Given the description of an element on the screen output the (x, y) to click on. 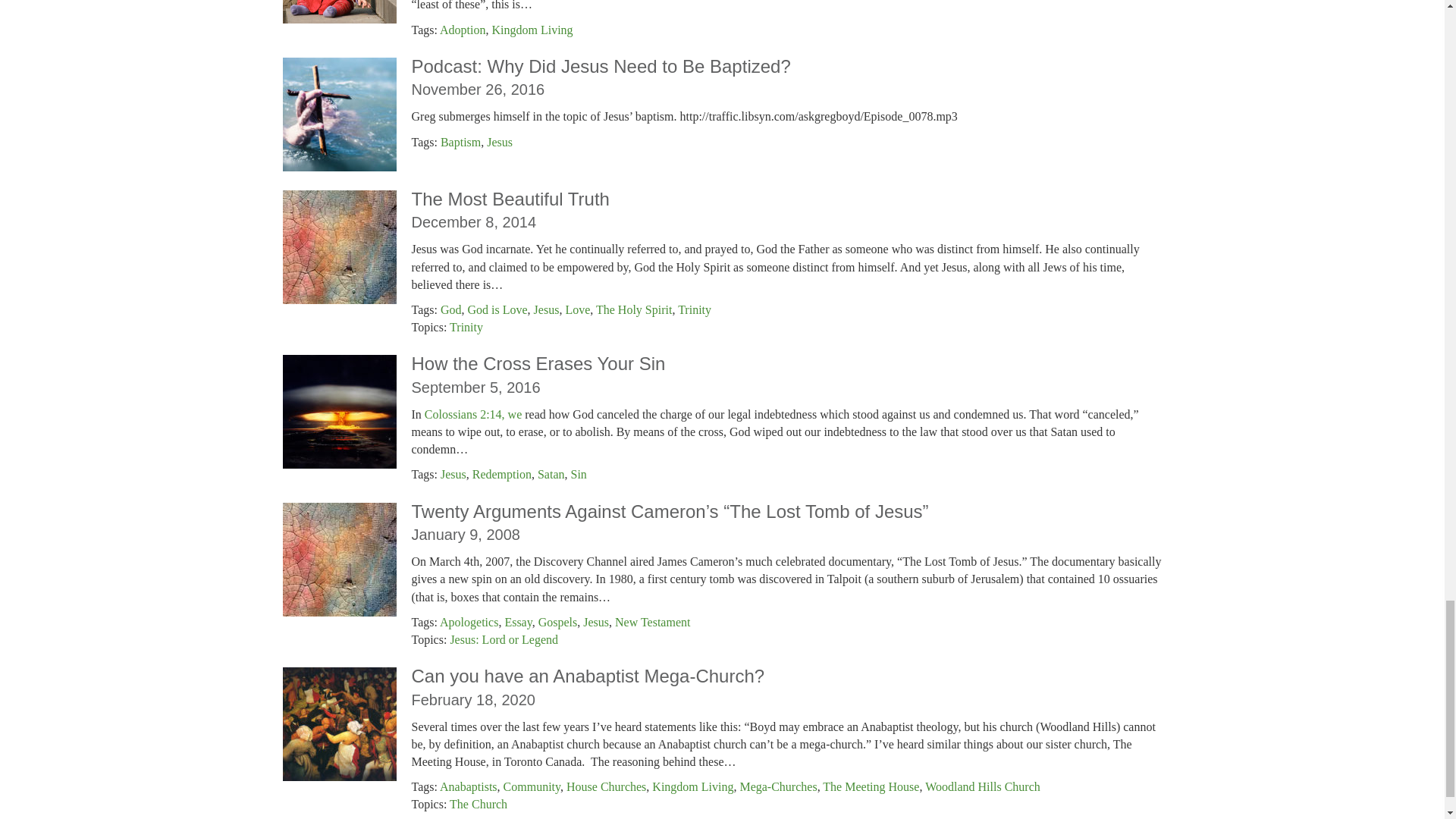
Adoption (461, 29)
Jesus (499, 141)
Kingdom Living (532, 29)
Podcast: Why Did Jesus Need to Be Baptized? (600, 66)
Baptism (460, 141)
The Most Beautiful Truth (509, 199)
